Given the description of an element on the screen output the (x, y) to click on. 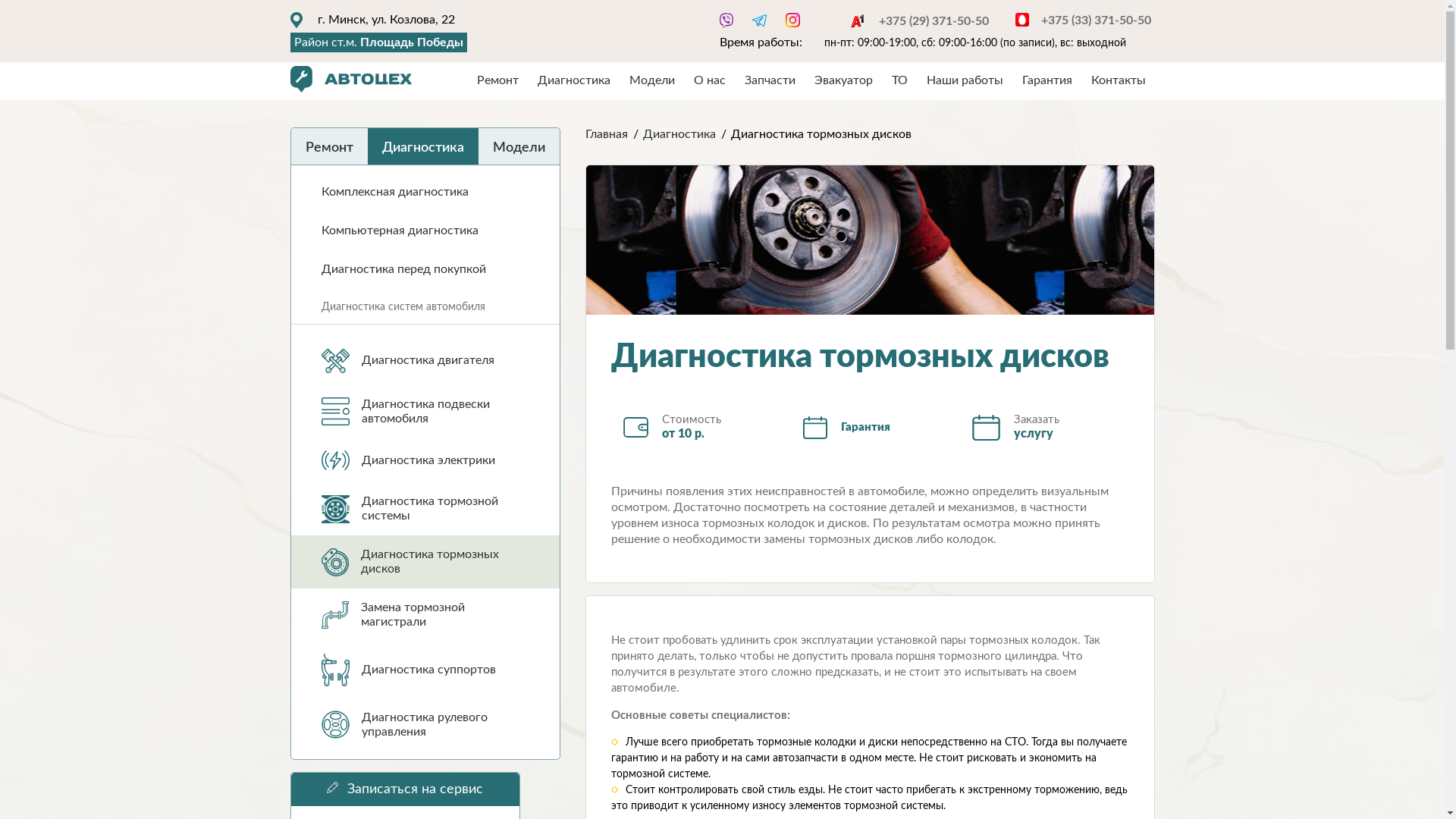
+375 (33) 371-50-50 Element type: text (1082, 20)
+375 (29) 371-50-50 Element type: text (917, 21)
